Given the description of an element on the screen output the (x, y) to click on. 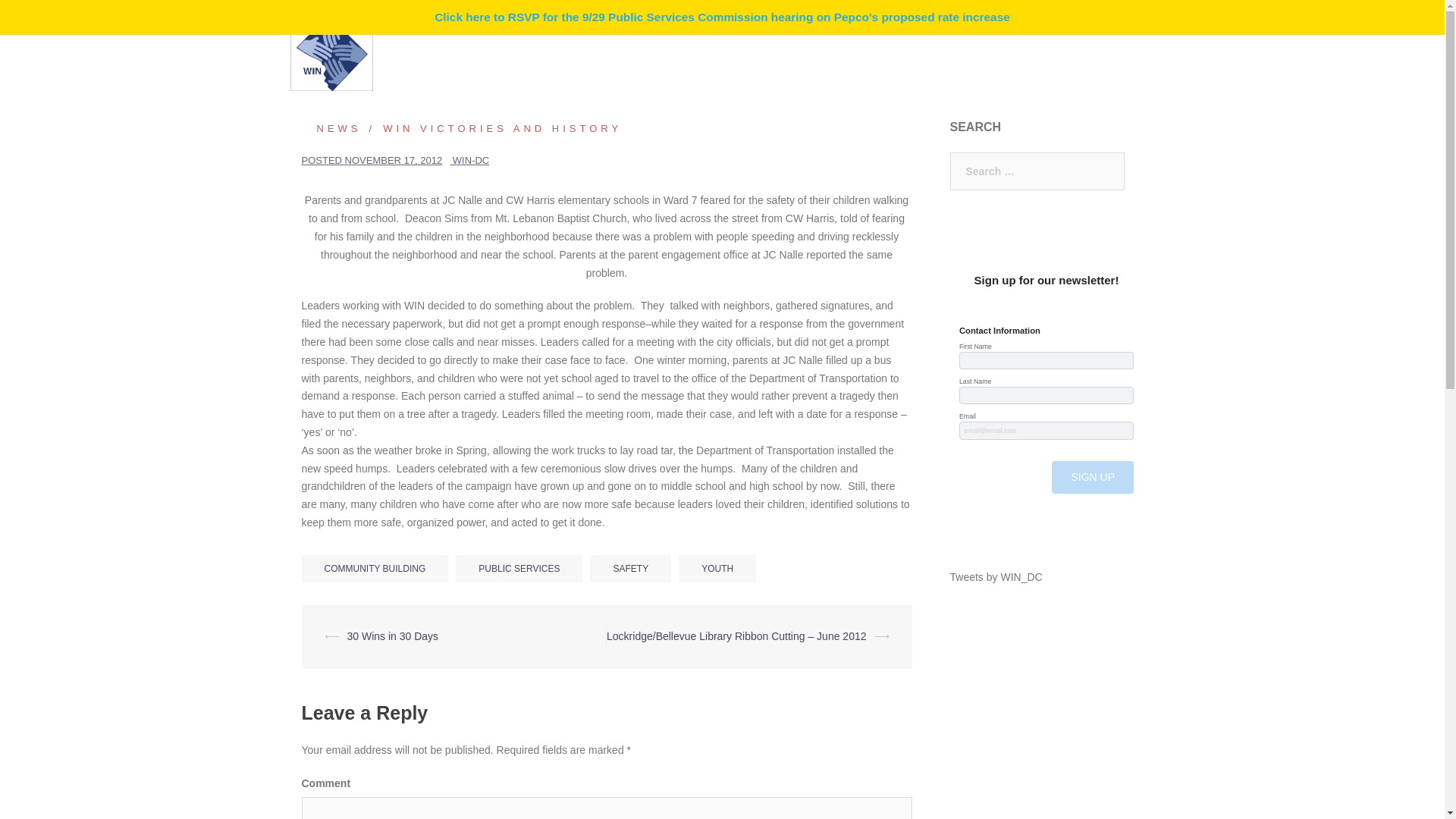
Washington Interfaith Network (330, 51)
PUBLIC SERVICES (518, 568)
NOVEMBER 17, 2012 (393, 160)
Home (609, 44)
WIN Victories and History (491, 128)
WIN University: Political Education Series 2024 (943, 44)
WIN VICTORIES AND HISTORY (491, 128)
NEWS (331, 128)
SAFETY (630, 568)
About Us (790, 44)
Sign Up (1092, 477)
news (331, 128)
WIN-DC (470, 160)
Donate (612, 62)
